Given the description of an element on the screen output the (x, y) to click on. 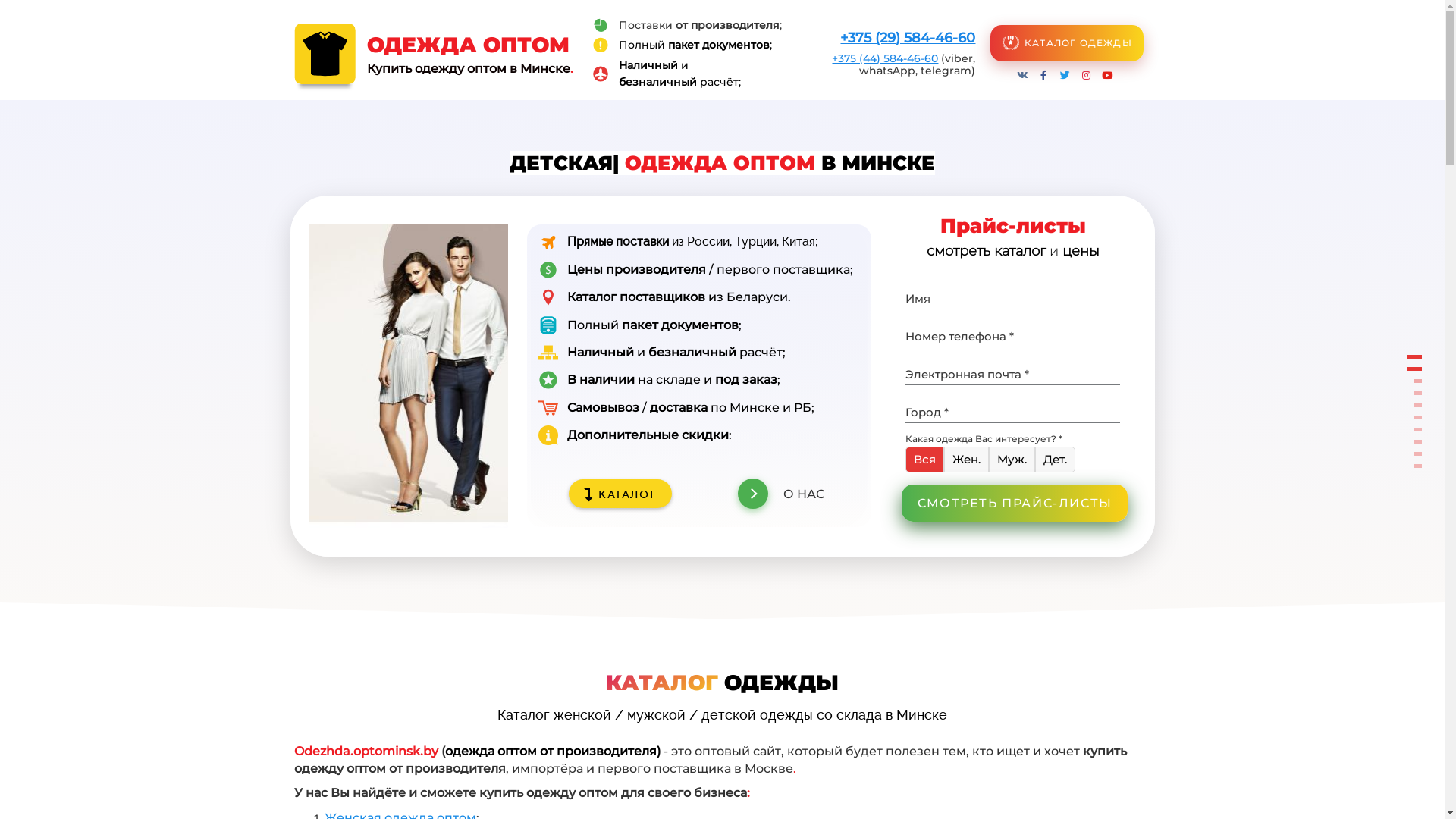
+375 (44) 584-46-60 Element type: text (884, 58)
+375 (29) 584-46-60 Element type: text (907, 37)
